Given the description of an element on the screen output the (x, y) to click on. 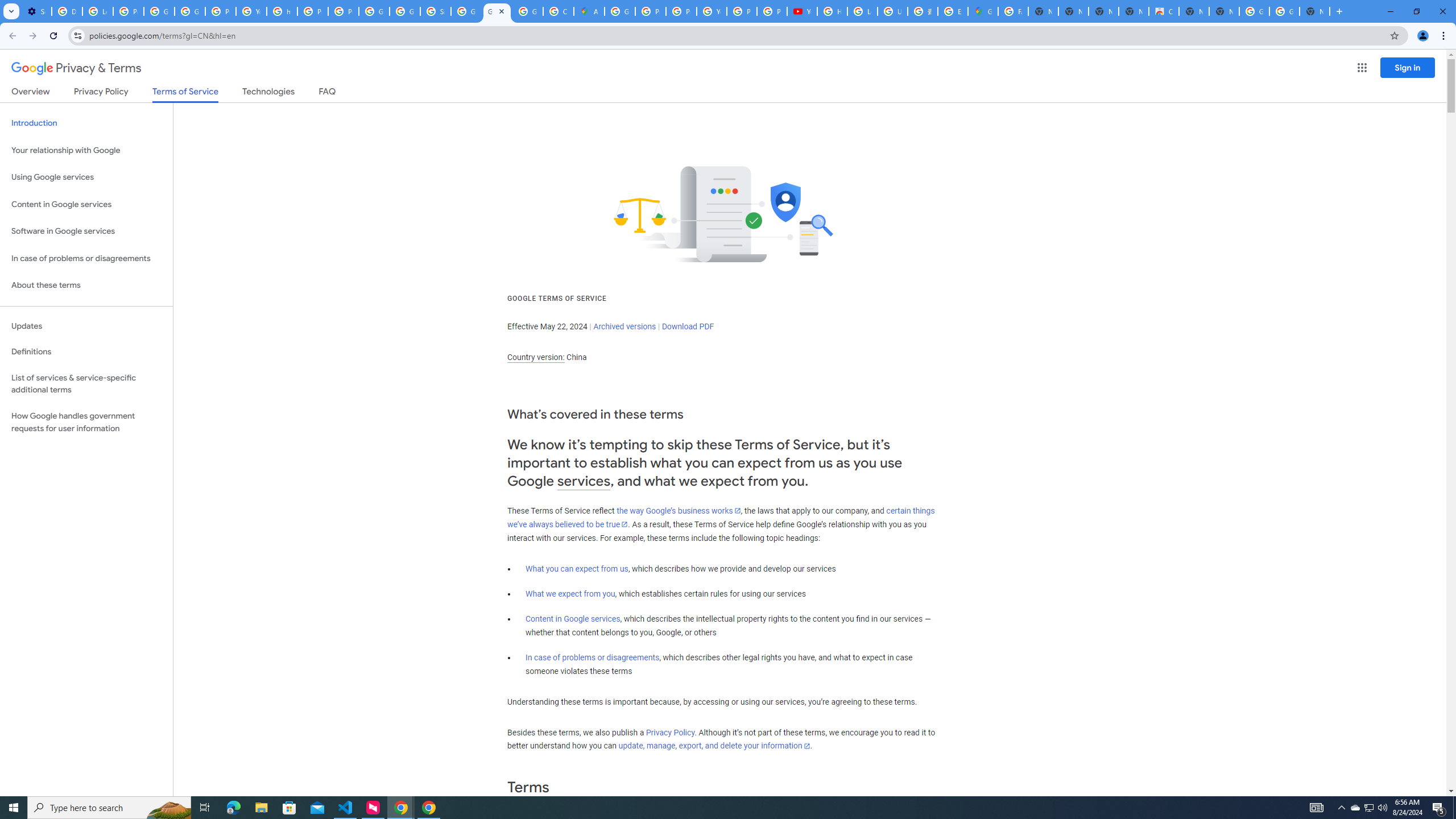
update, manage, export, and delete your information (714, 746)
Google Account Help (158, 11)
Google Images (1254, 11)
Definitions (86, 352)
Download PDF (687, 326)
